Given the description of an element on the screen output the (x, y) to click on. 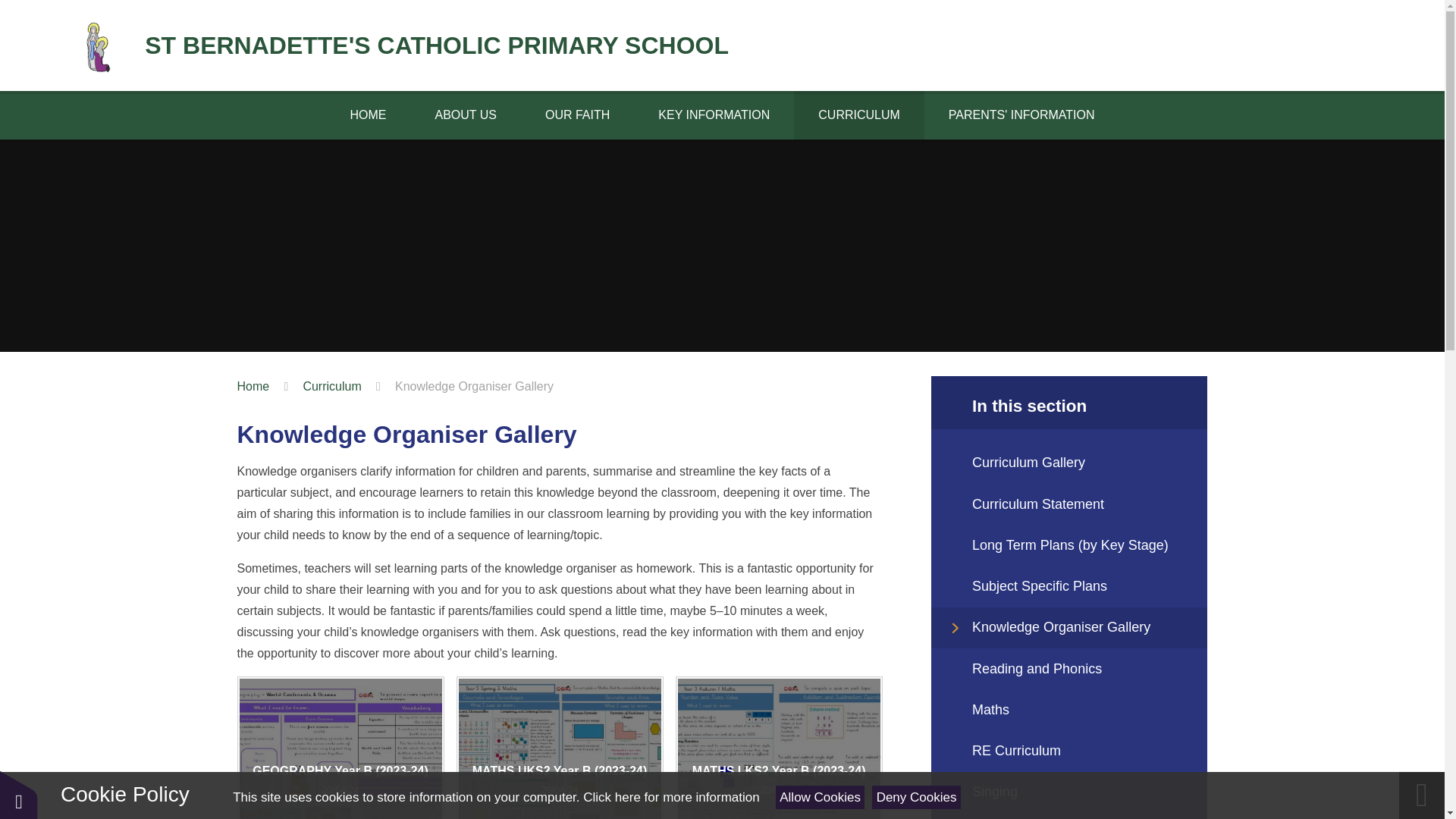
Deny Cookies (915, 797)
ABOUT US (465, 114)
See cookie policy (670, 797)
OUR FAITH (577, 114)
ST BERNADETTE'S CATHOLIC PRIMARY SCHOOL (400, 45)
HOME (367, 114)
Allow Cookies (820, 797)
